Given the description of an element on the screen output the (x, y) to click on. 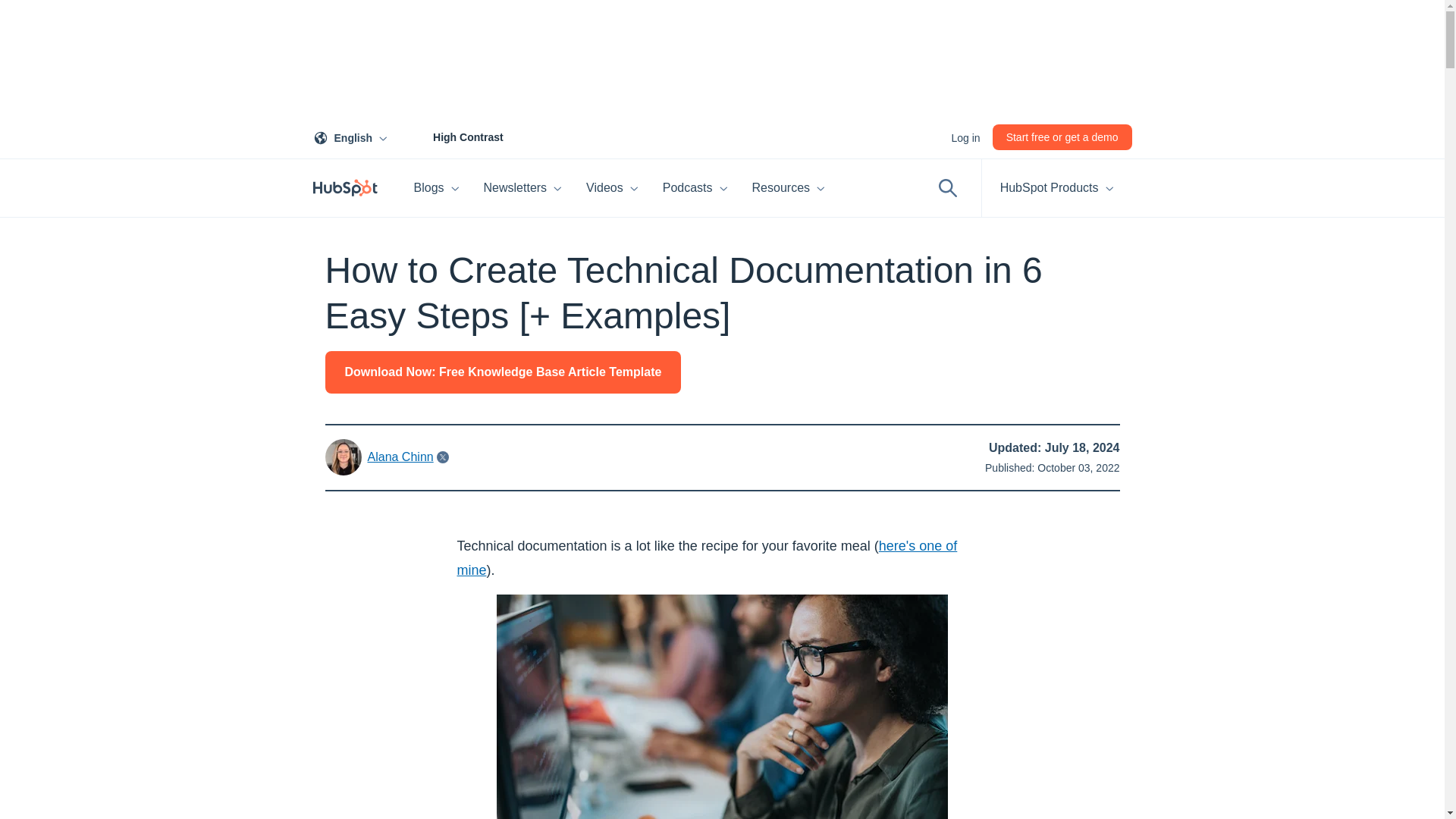
Start free or get a demo (1062, 136)
Blogs (436, 187)
Log in (964, 137)
Newsletters (353, 136)
Videos (523, 187)
High Contrast (611, 187)
